Given the description of an element on the screen output the (x, y) to click on. 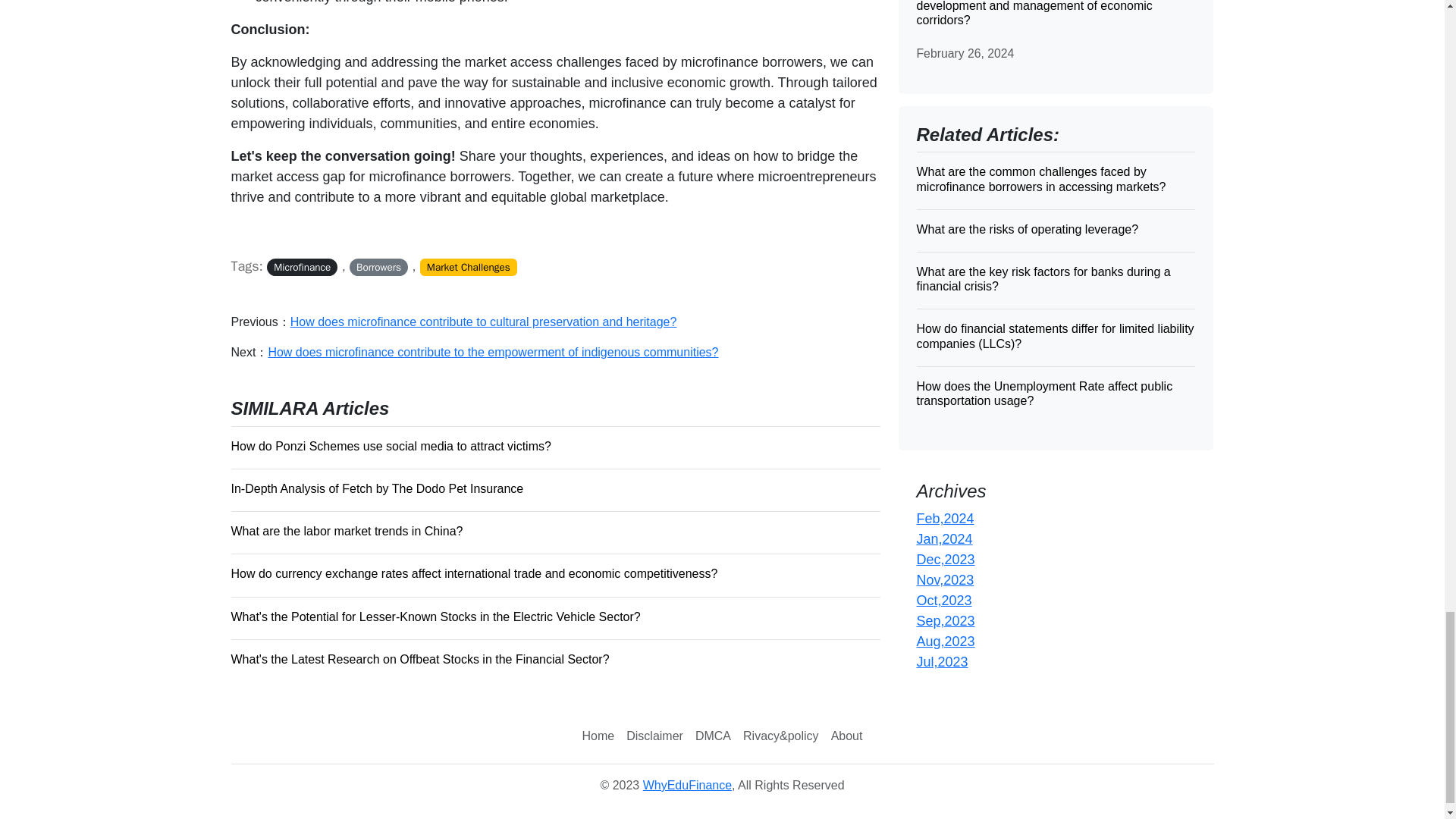
In-Depth Analysis of Fetch by The Dodo Pet Insurance (554, 487)
What are the labor market trends in China? (554, 530)
DMCA (712, 736)
Market Challenges (468, 267)
How do Ponzi Schemes use social media to attract victims? (554, 445)
Disclaimer (654, 736)
About (847, 736)
Home (598, 736)
